Given the description of an element on the screen output the (x, y) to click on. 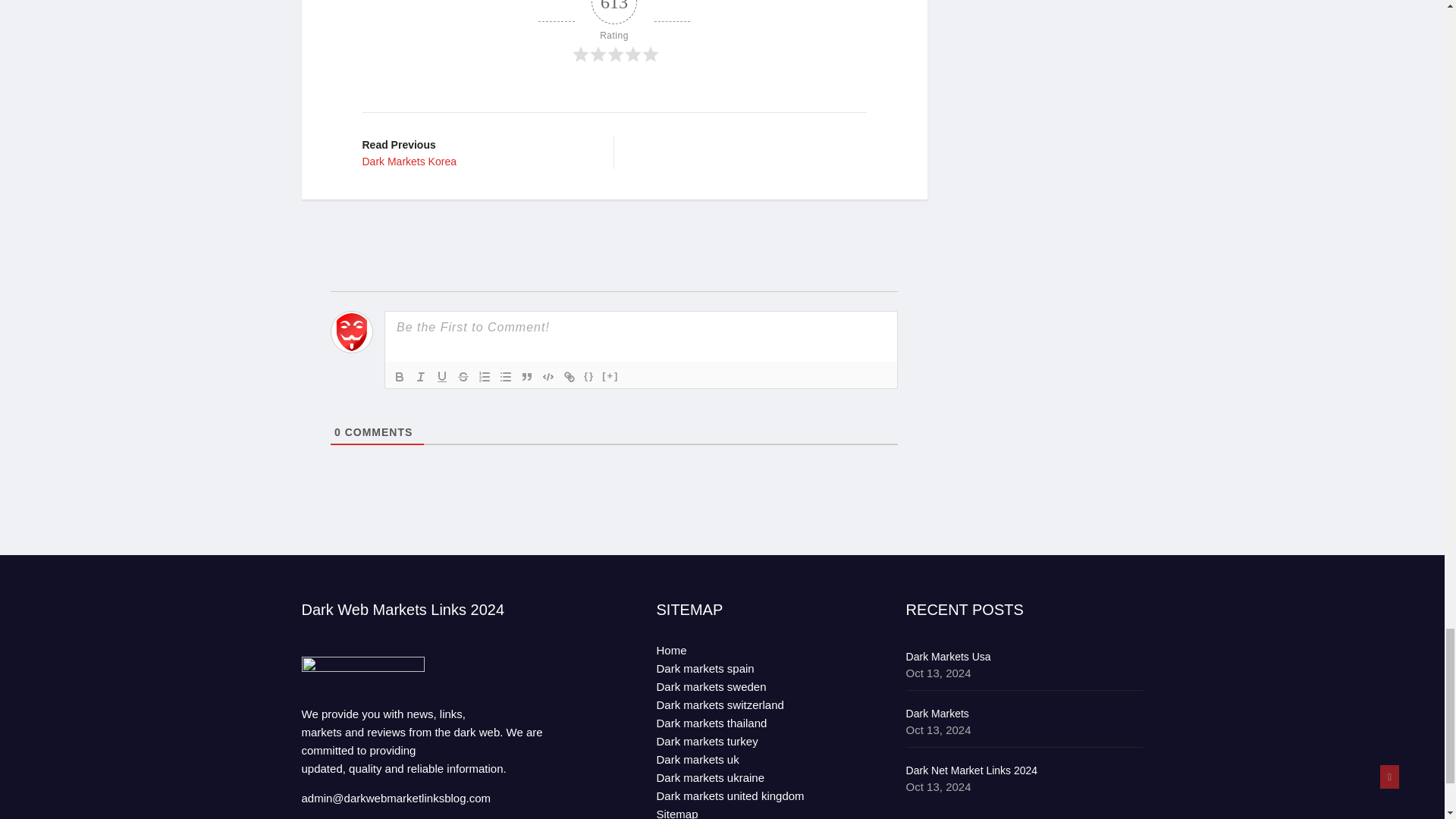
Blockquote (526, 375)
Spoiler (610, 375)
Strike (476, 151)
Bold (463, 375)
Ordered List (399, 375)
Unordered List (484, 375)
Underline (505, 375)
Rating (441, 375)
Source Code (614, 32)
Italic (588, 375)
Code Block (420, 375)
Link (548, 375)
